Given the description of an element on the screen output the (x, y) to click on. 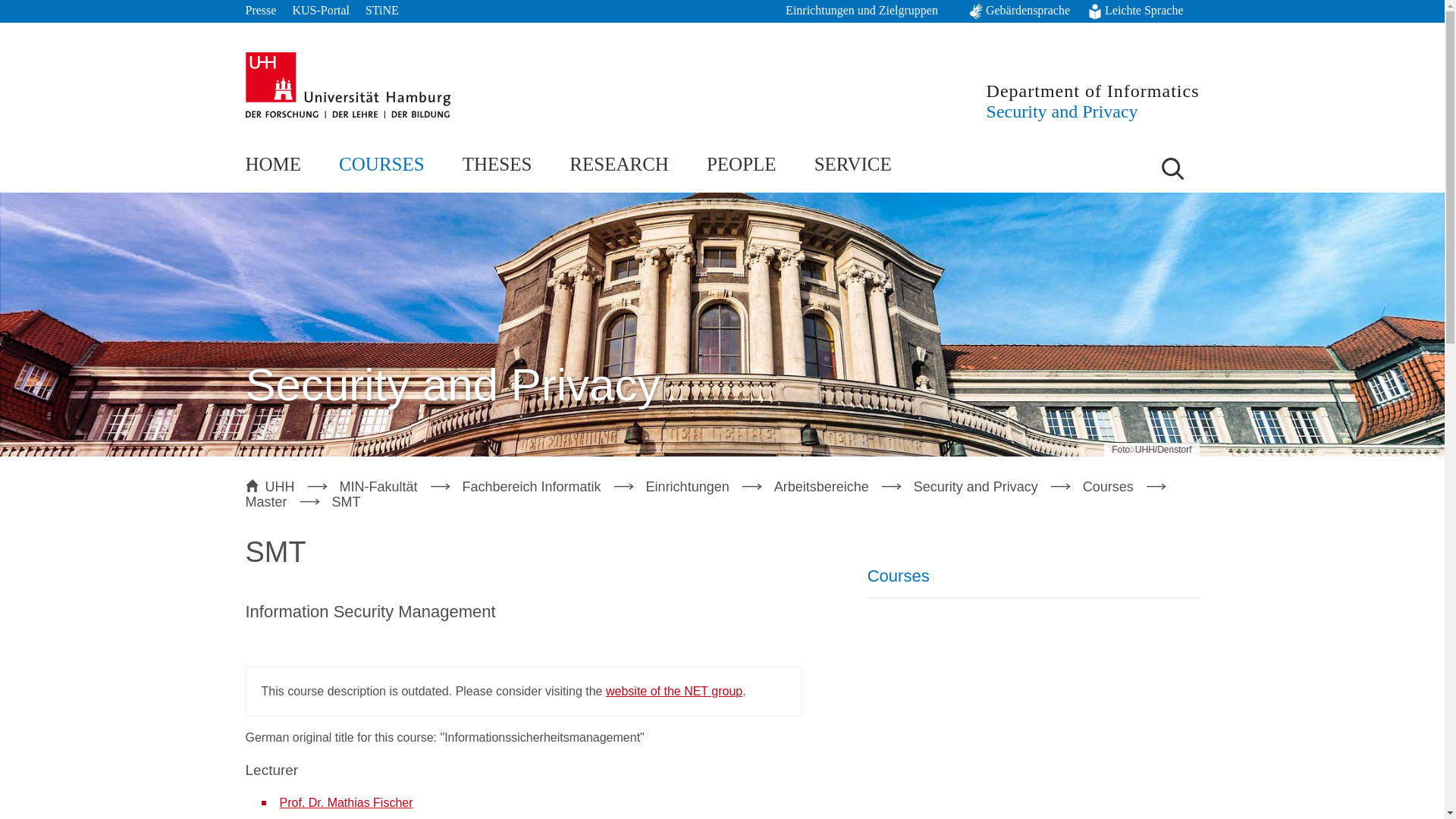
Presse (261, 11)
STiNE (381, 11)
Wortmarke der Site: zur Startseite (1093, 101)
KUS-Portal (320, 11)
Einrichtungen und Zielgruppen (869, 11)
Zur Homepage (347, 84)
